Given the description of an element on the screen output the (x, y) to click on. 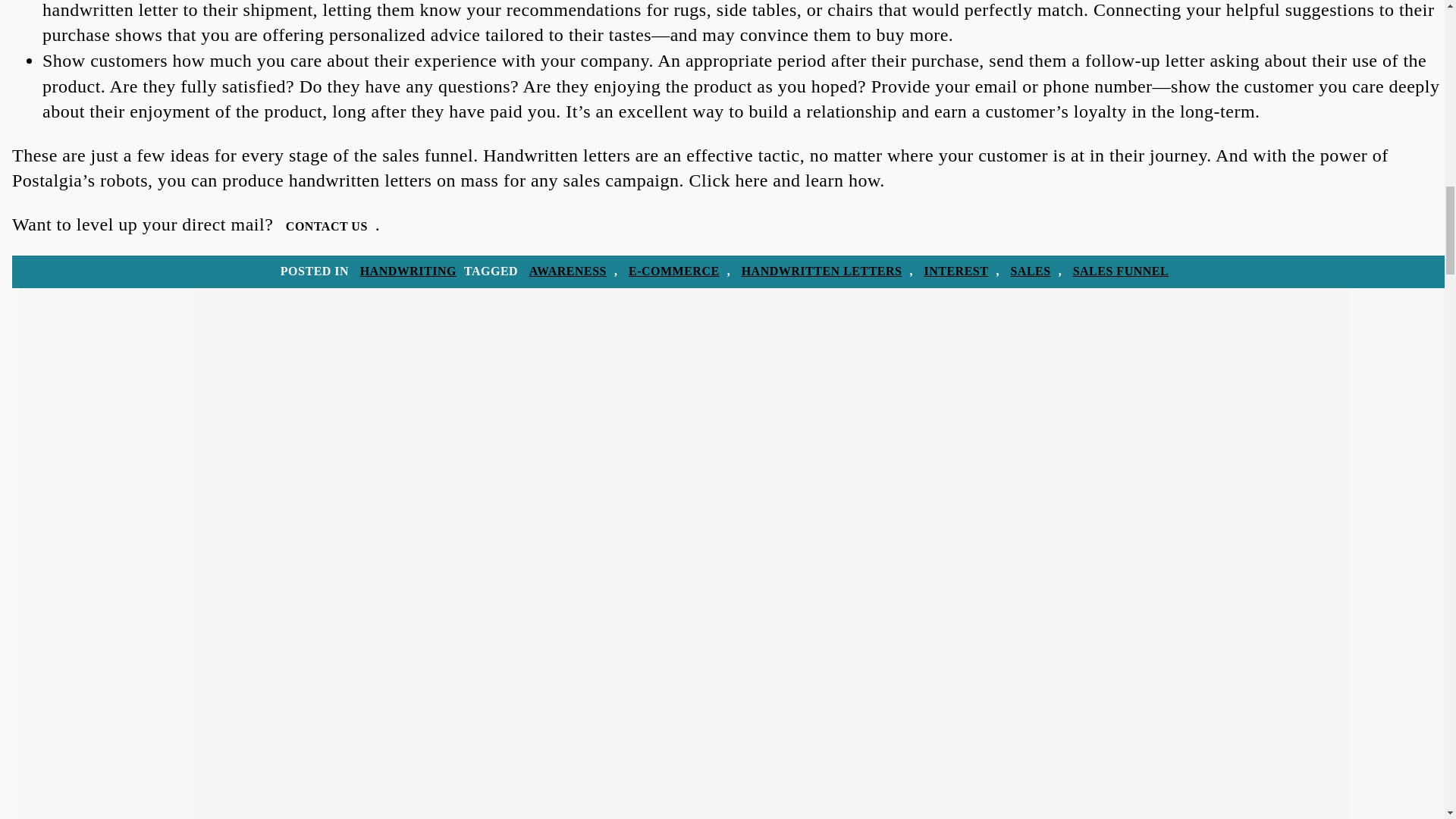
SALES (1030, 270)
HANDWRITING (408, 270)
E-COMMERCE (673, 270)
HANDWRITTEN LETTERS (821, 270)
SALES FUNNEL (1120, 270)
CONTACT US (326, 226)
AWARENESS (567, 270)
INTEREST (955, 270)
